Given the description of an element on the screen output the (x, y) to click on. 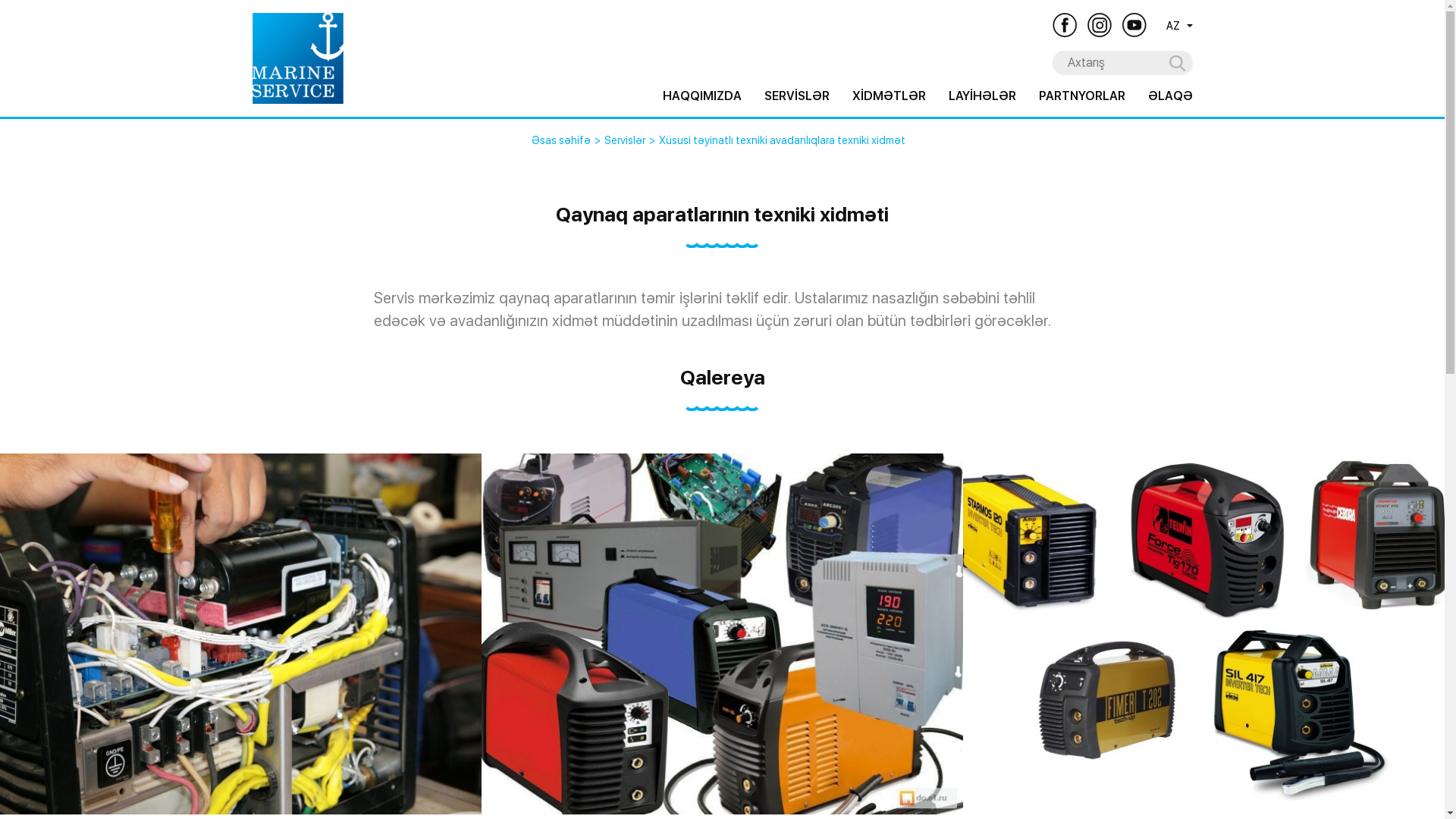
HAQQIMIZDA Element type: text (701, 95)
PARTNYORLAR Element type: text (1081, 95)
